Given the description of an element on the screen output the (x, y) to click on. 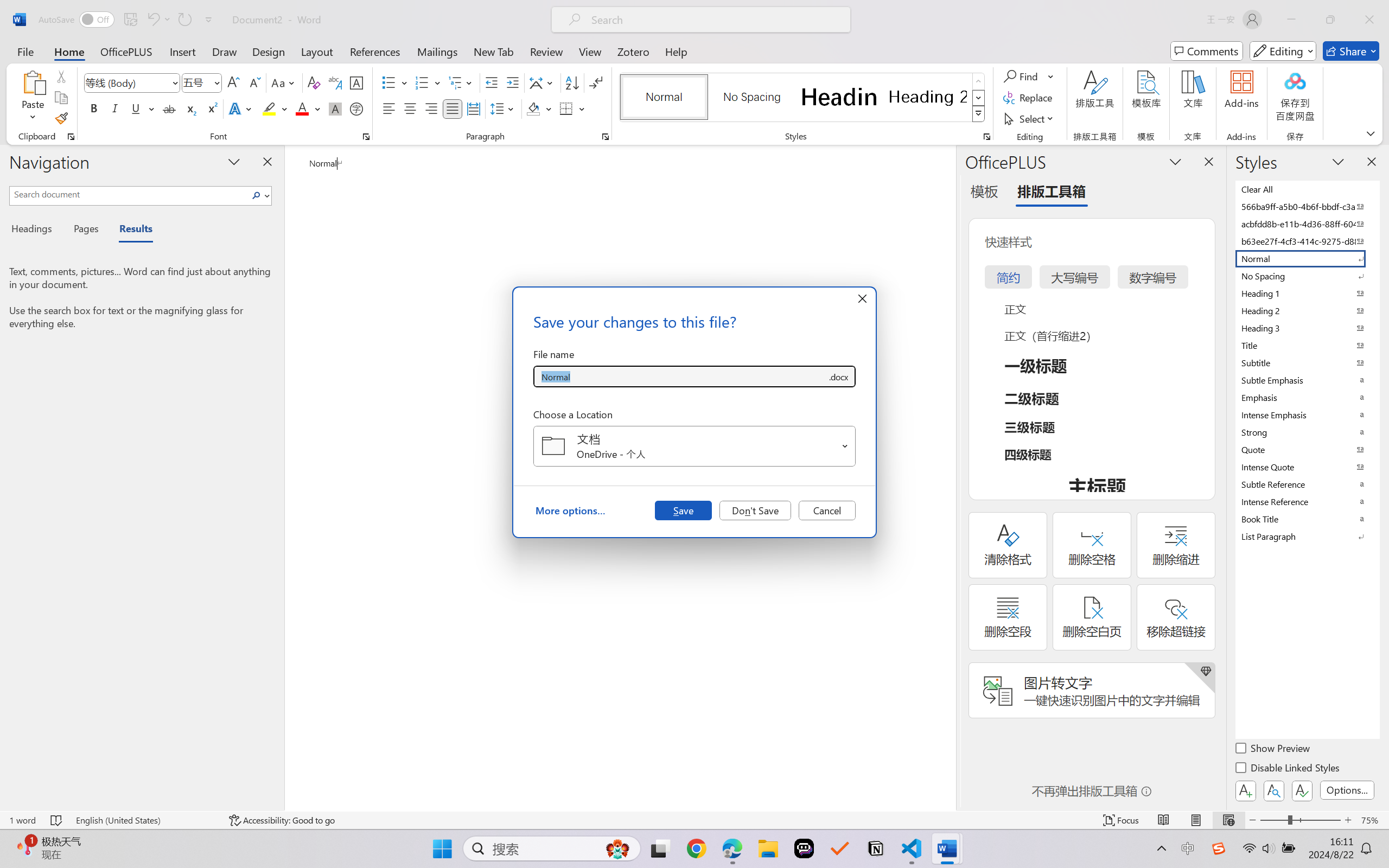
Character Border (356, 82)
New Tab (493, 51)
Clear All (1306, 188)
Accessibility Checker Accessibility: Good to go (282, 819)
Don't Save (755, 509)
Intense Emphasis (1306, 414)
Line and Paragraph Spacing (503, 108)
Styles... (986, 136)
Text Effects and Typography (241, 108)
Copy (60, 97)
